Given the description of an element on the screen output the (x, y) to click on. 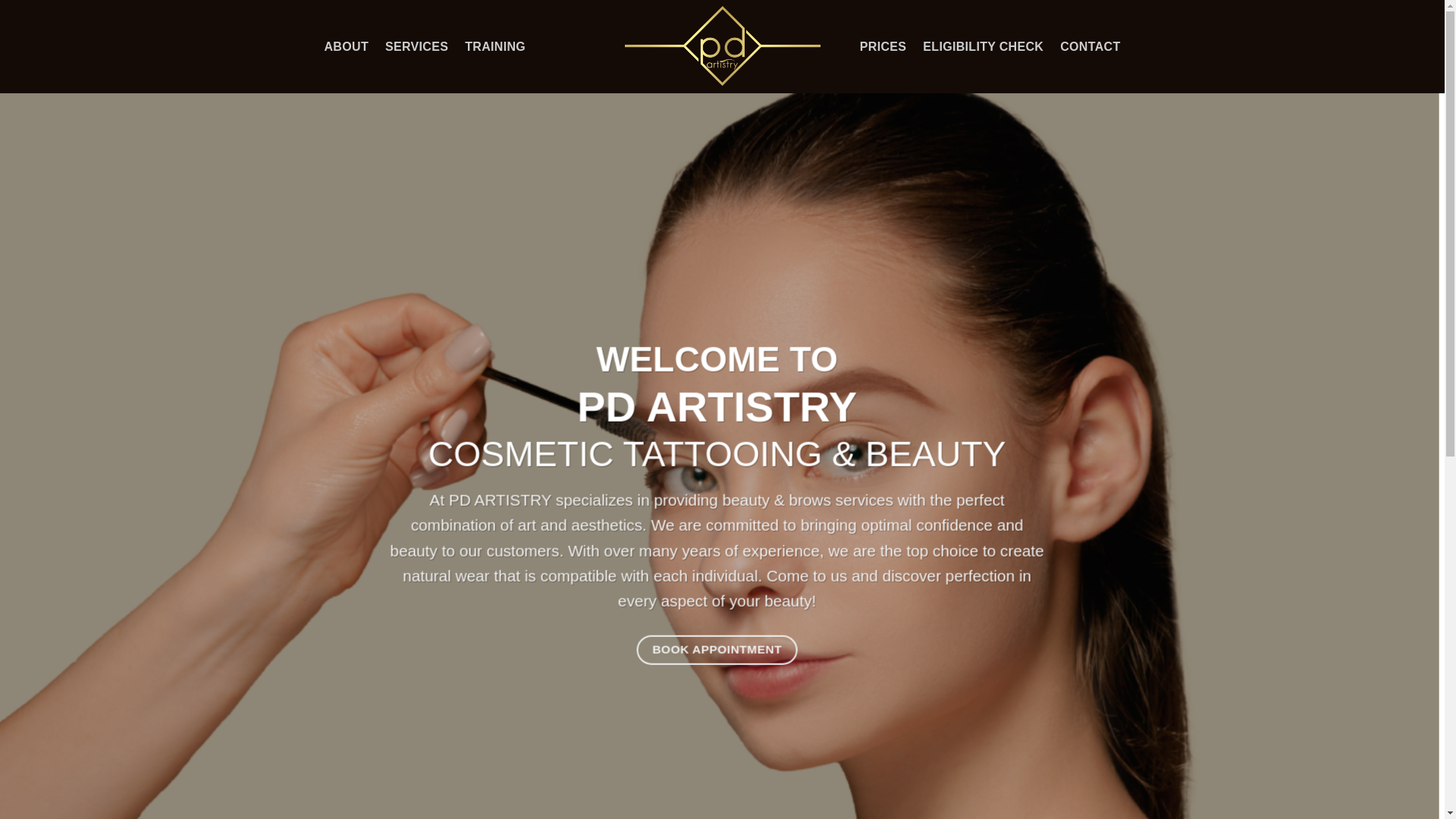
ABOUT Element type: text (346, 46)
SERVICES Element type: text (416, 46)
PRICES Element type: text (882, 46)
TRAINING Element type: text (494, 46)
ELIGIBILITY CHECK Element type: text (982, 46)
PD Artistry Element type: hover (722, 46)
BOOK APPOINTMENT Element type: text (716, 650)
CONTACT Element type: text (1090, 46)
